Given the description of an element on the screen output the (x, y) to click on. 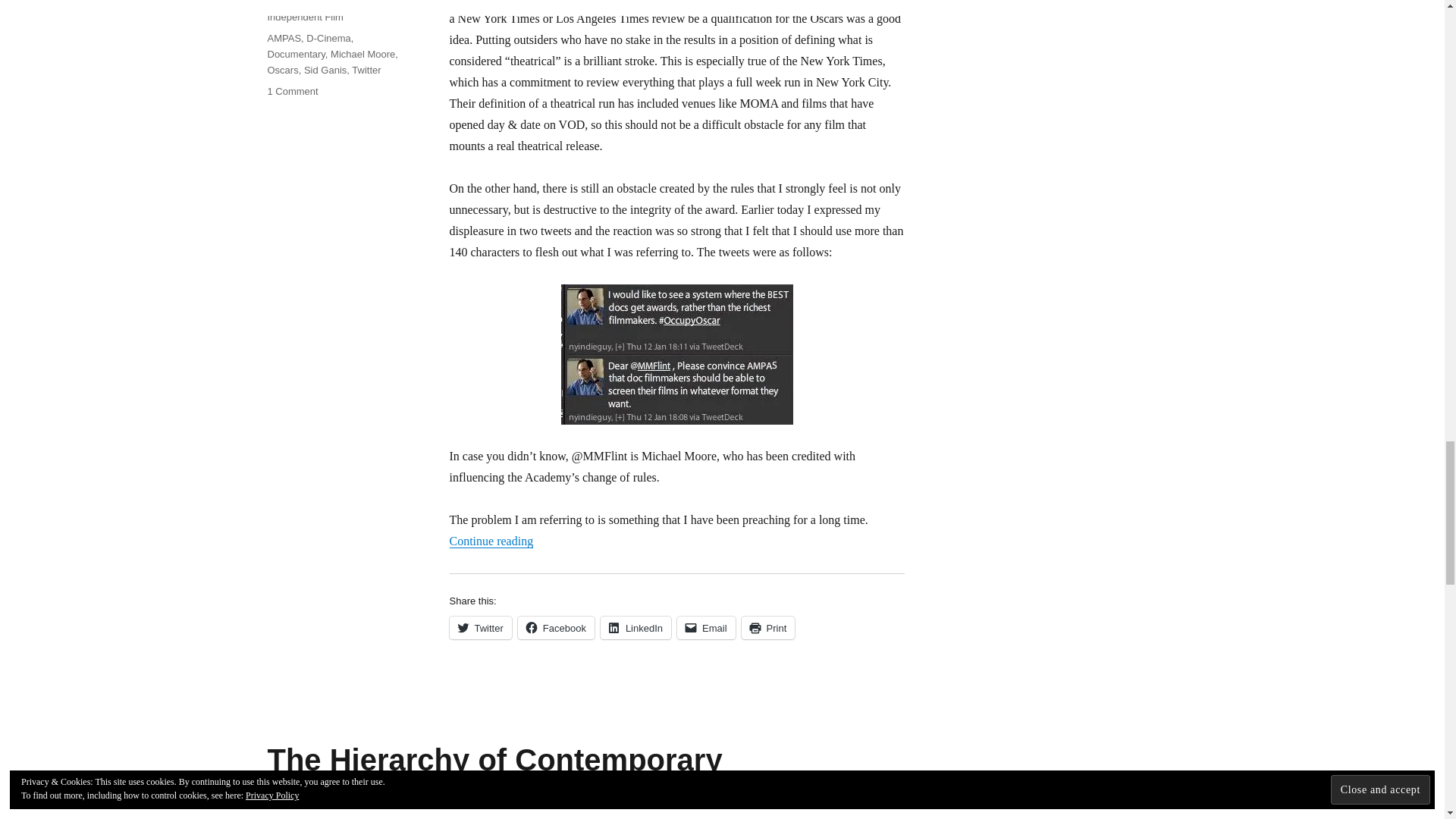
Click to share on Twitter (479, 627)
Click to share on LinkedIn (635, 627)
Click to share on Facebook (556, 627)
Tweets (676, 354)
